Given the description of an element on the screen output the (x, y) to click on. 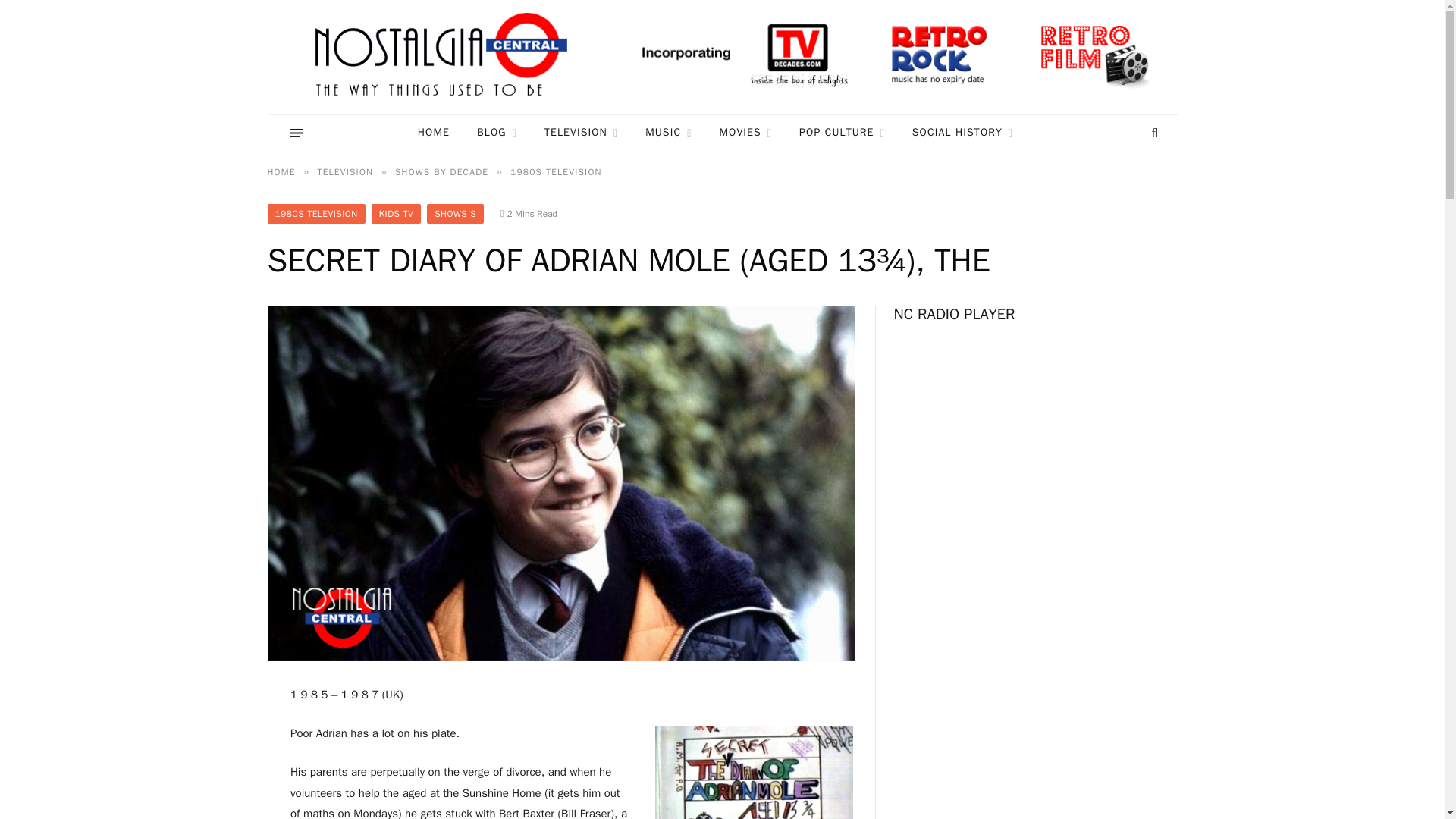
Nostalgia Central (444, 56)
HOME (433, 132)
BLOG (497, 132)
TELEVISION (581, 132)
